Given the description of an element on the screen output the (x, y) to click on. 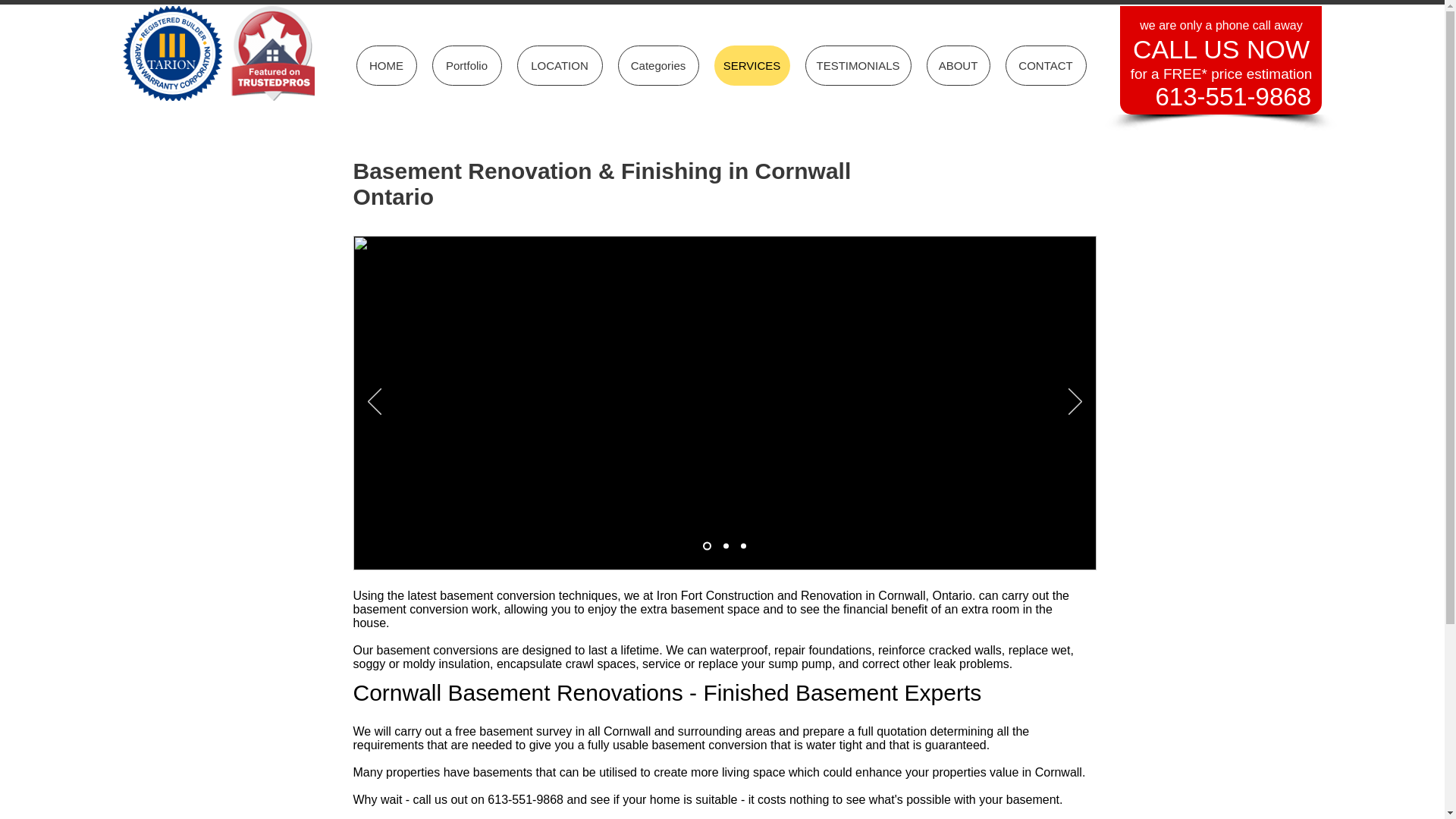
TESTIMONIALS (858, 65)
ABOUT (958, 65)
SERVICES (752, 65)
CONTACT (1046, 65)
613-551-9868 (1233, 96)
HOME (386, 65)
